Given the description of an element on the screen output the (x, y) to click on. 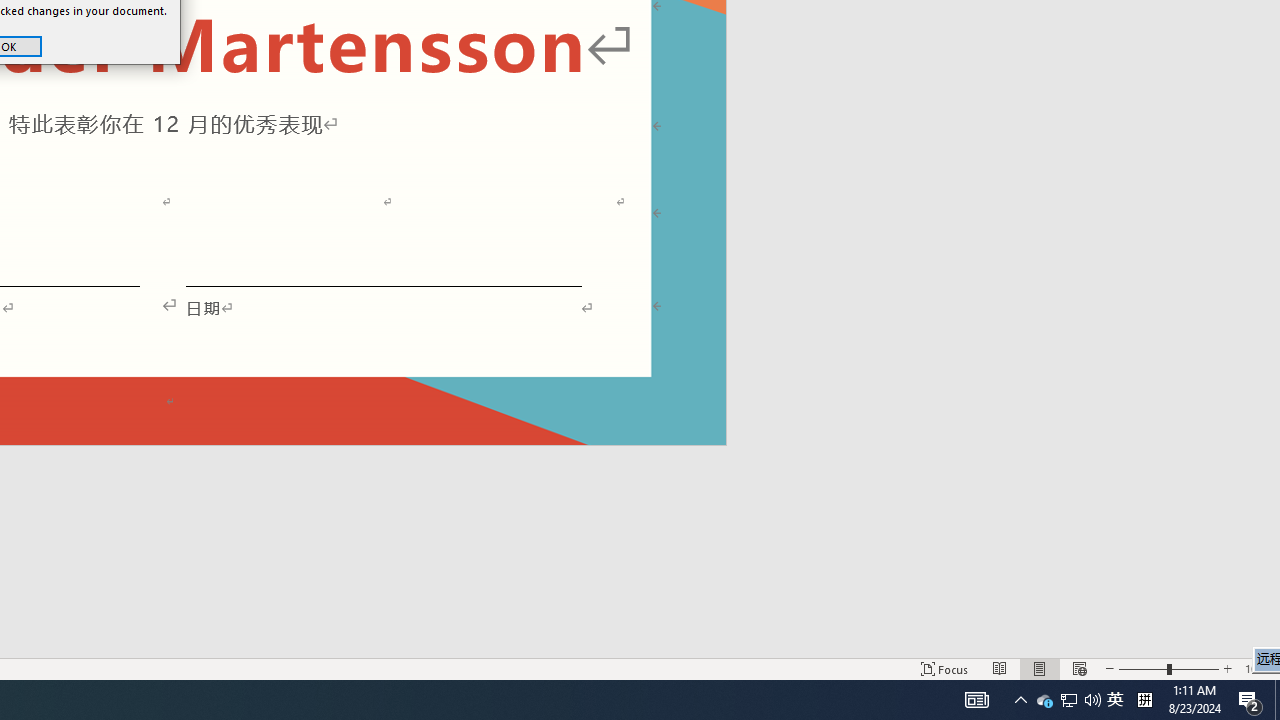
Action Center, 2 new notifications (1250, 699)
User Promoted Notification Area (1068, 699)
